Given the description of an element on the screen output the (x, y) to click on. 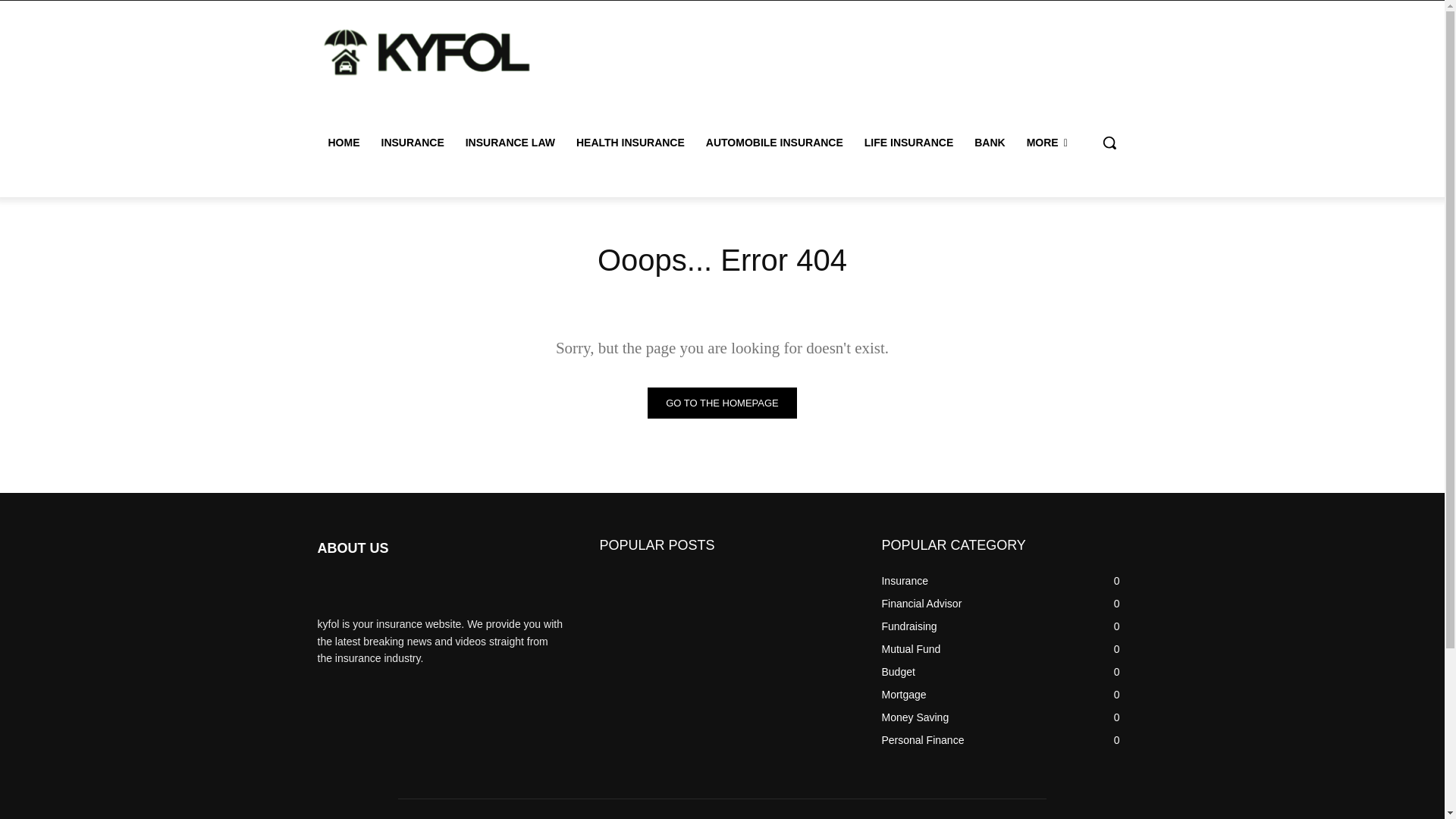
AUTOMOBILE INSURANCE (774, 142)
HOME (343, 142)
INSURANCE LAW (510, 142)
HEALTH INSURANCE (630, 142)
BANK (988, 142)
Go to the homepage (721, 402)
MORE (1047, 142)
LIFE INSURANCE (908, 142)
INSURANCE (411, 142)
